Given the description of an element on the screen output the (x, y) to click on. 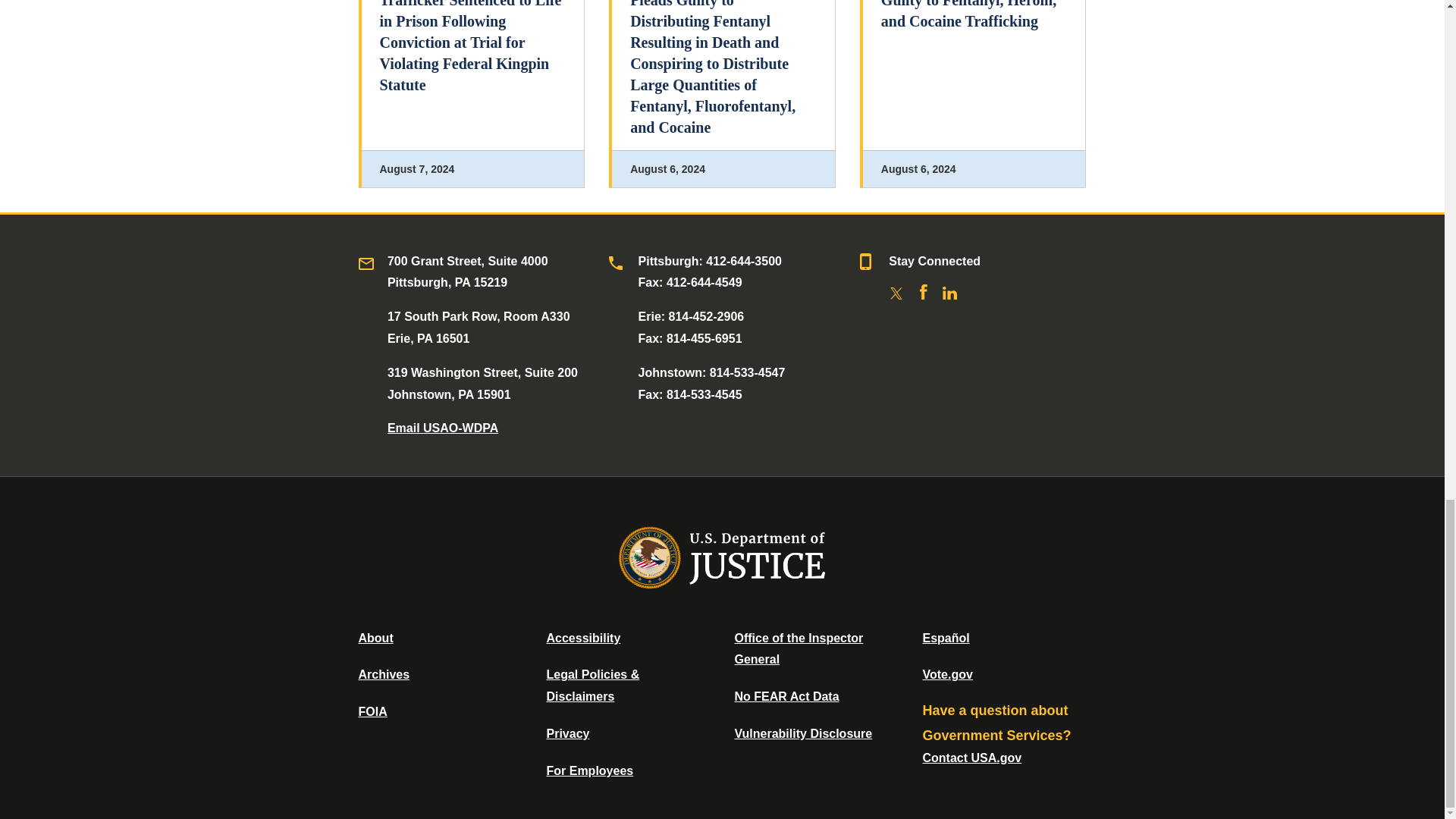
For Employees (589, 770)
Office of Information Policy (372, 711)
Email USAO-WDPA (442, 427)
Department of Justice Archive (383, 674)
Legal Policies and Disclaimers (592, 685)
Data Posted Pursuant To The No Fear Act (785, 696)
Accessibility Statement (583, 637)
